Given the description of an element on the screen output the (x, y) to click on. 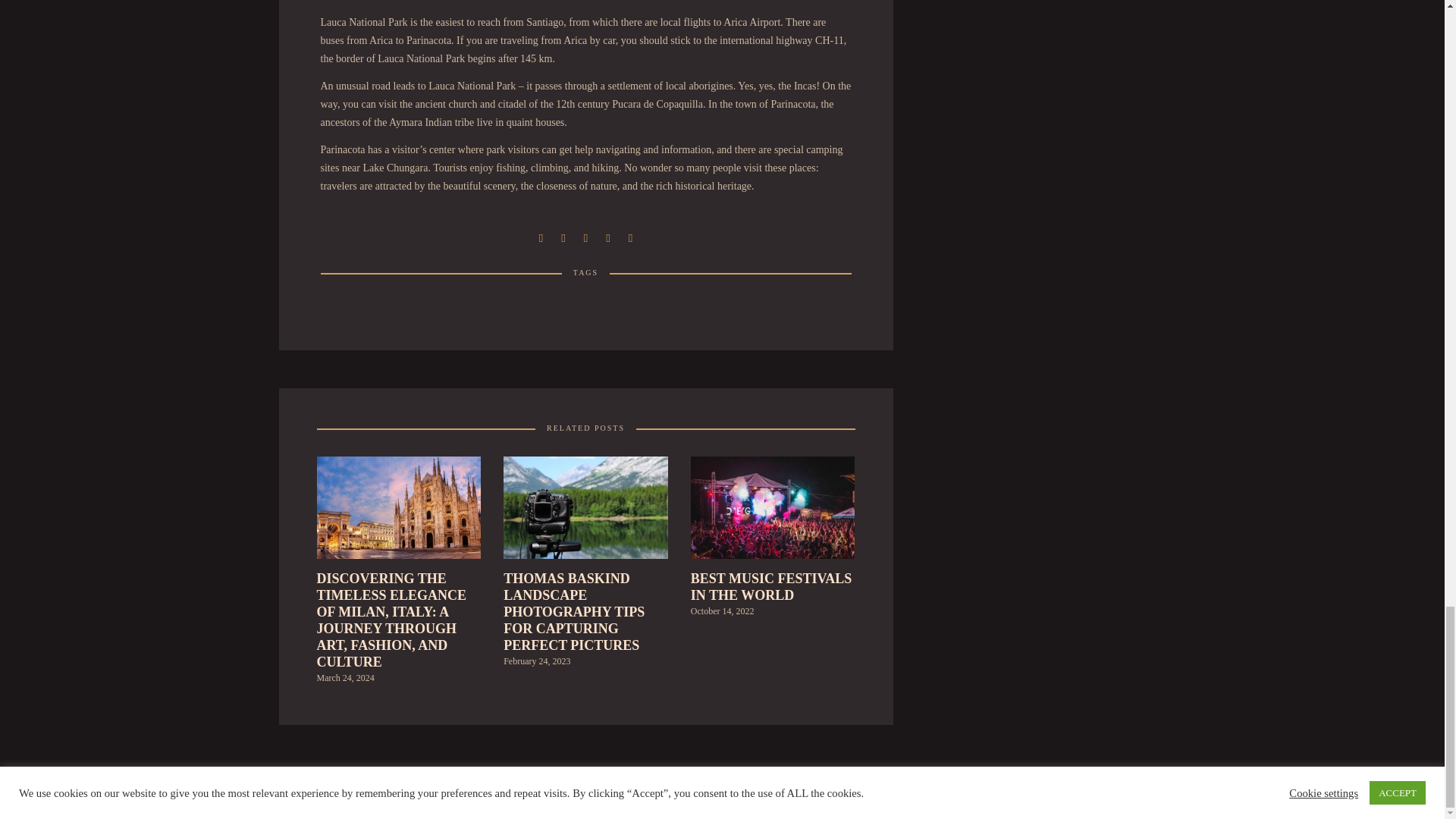
Best Music Festivals in the world (773, 511)
Best Music Festivals in the world (773, 618)
Lauca National Park in Chile (563, 235)
